Given the description of an element on the screen output the (x, y) to click on. 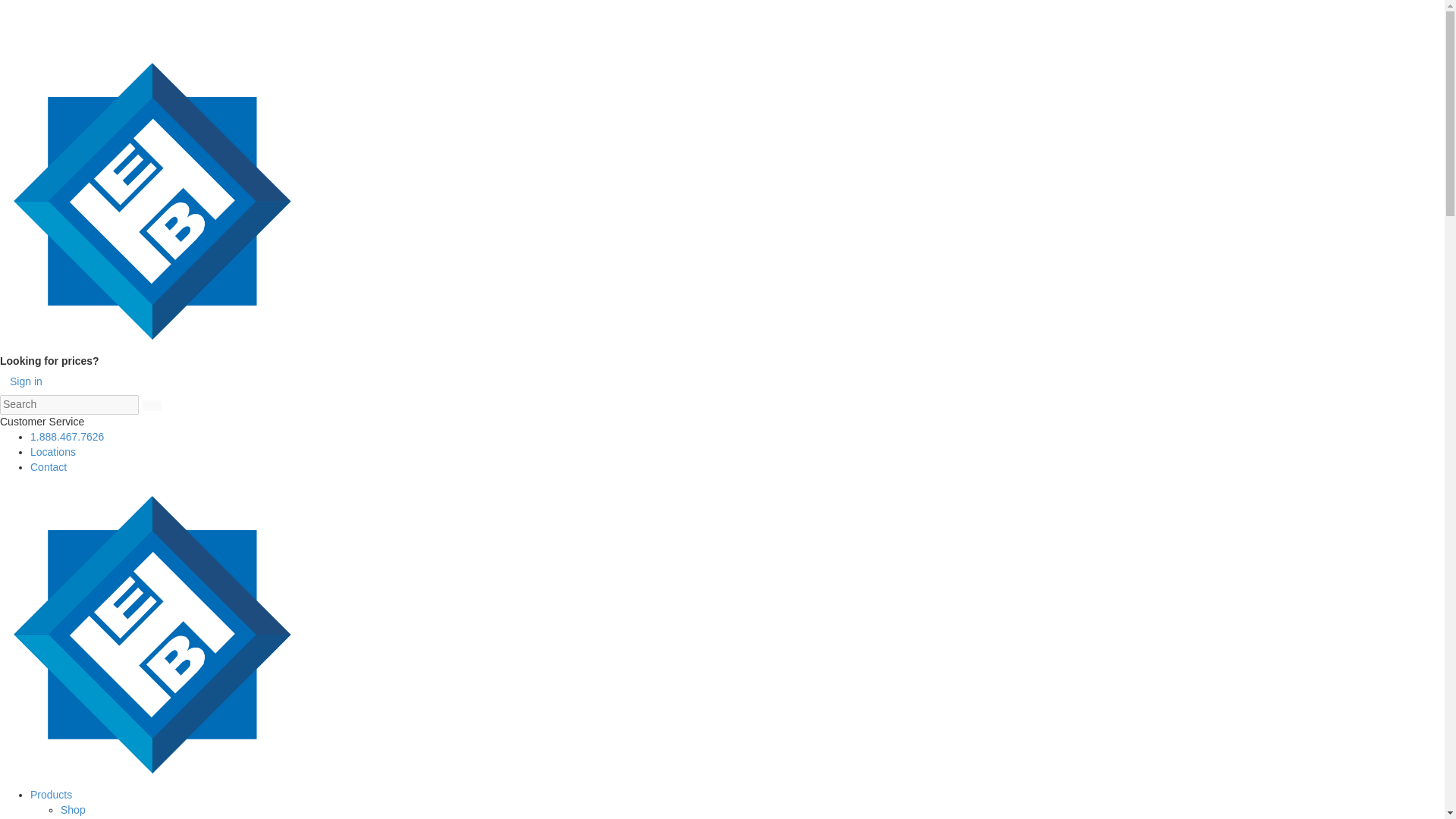
Locations (52, 451)
1.888.467.7626 (66, 436)
Contact (48, 467)
Shop (73, 809)
Products (50, 794)
Sign in (26, 381)
